Given the description of an element on the screen output the (x, y) to click on. 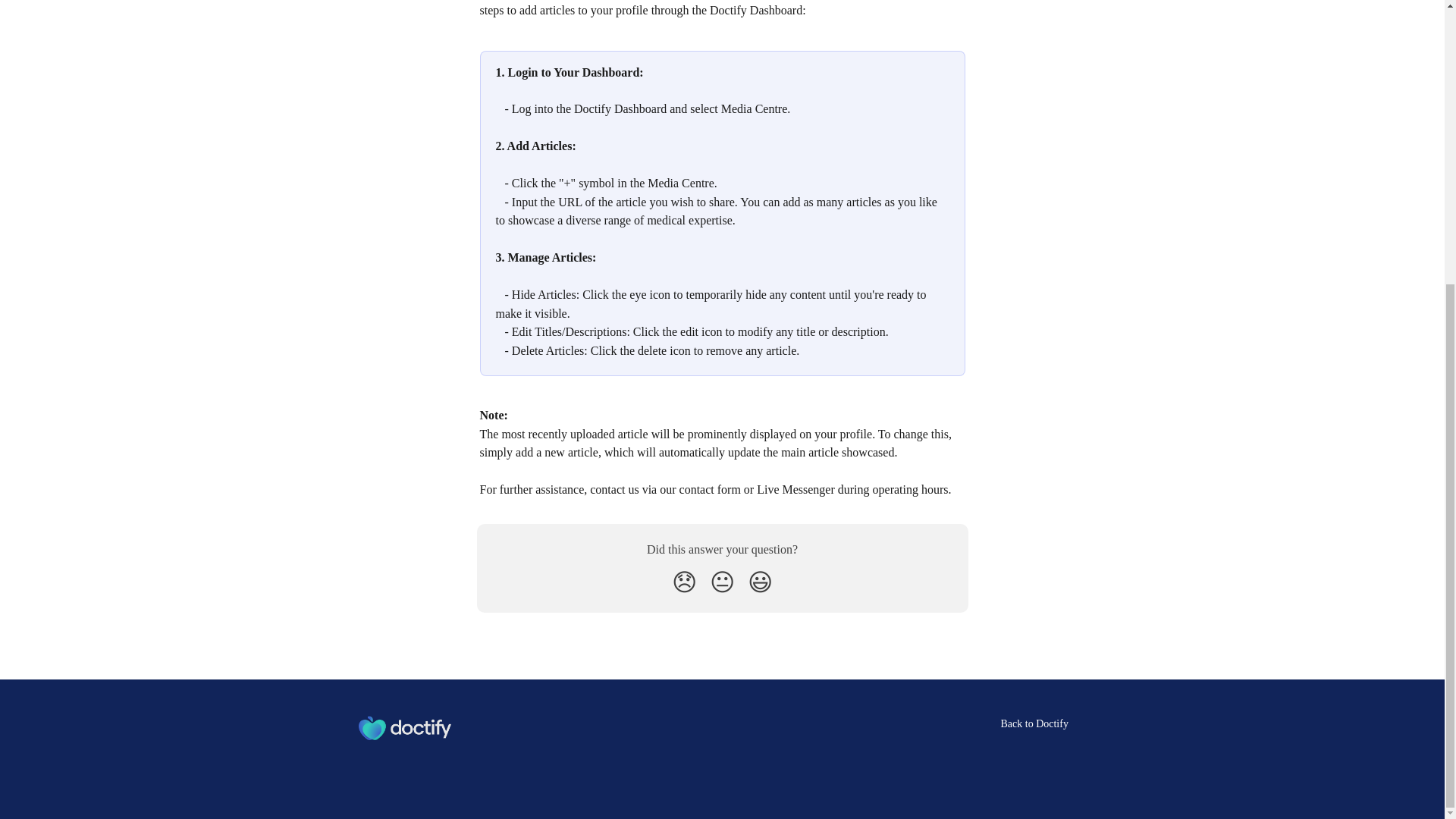
Neutral (722, 582)
Smiley (760, 582)
Disappointed (684, 582)
Back to Doctify (1034, 723)
